Given the description of an element on the screen output the (x, y) to click on. 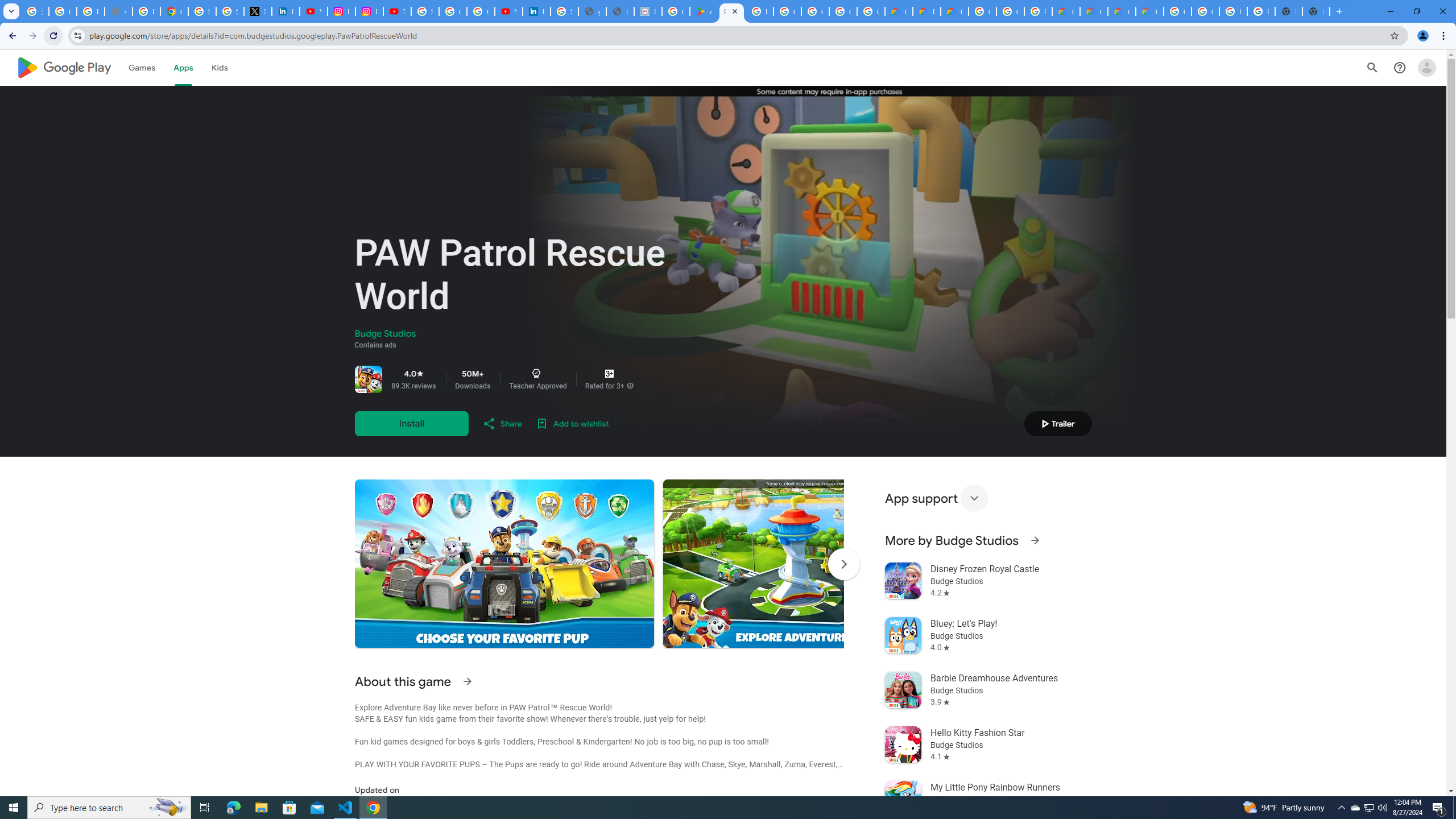
support.google.com - Network error (118, 11)
X (257, 11)
User Details (620, 11)
Games (141, 67)
